Given the description of an element on the screen output the (x, y) to click on. 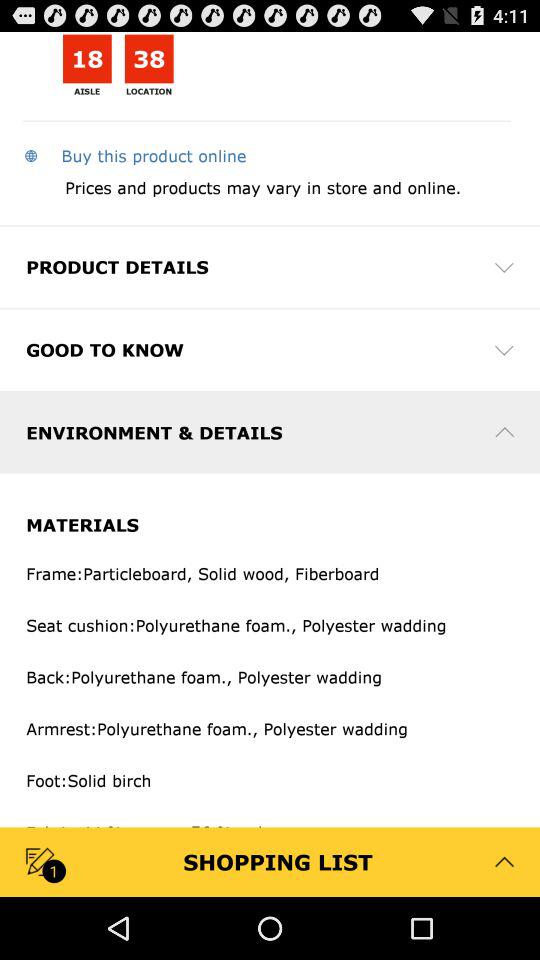
turn off the buy this product app (134, 155)
